Given the description of an element on the screen output the (x, y) to click on. 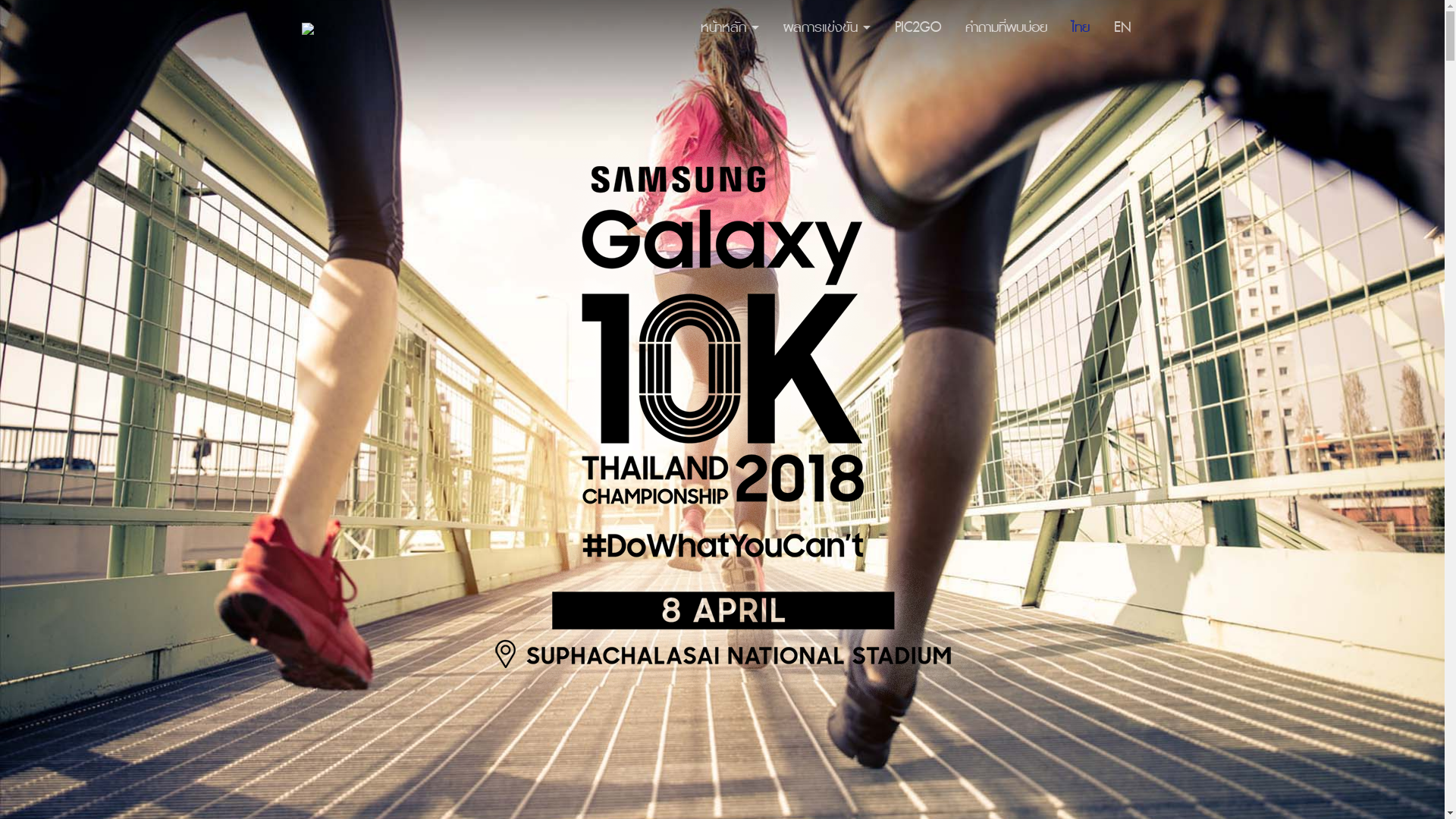
PIC2GO Element type: text (917, 26)
EN Element type: text (1121, 26)
